Given the description of an element on the screen output the (x, y) to click on. 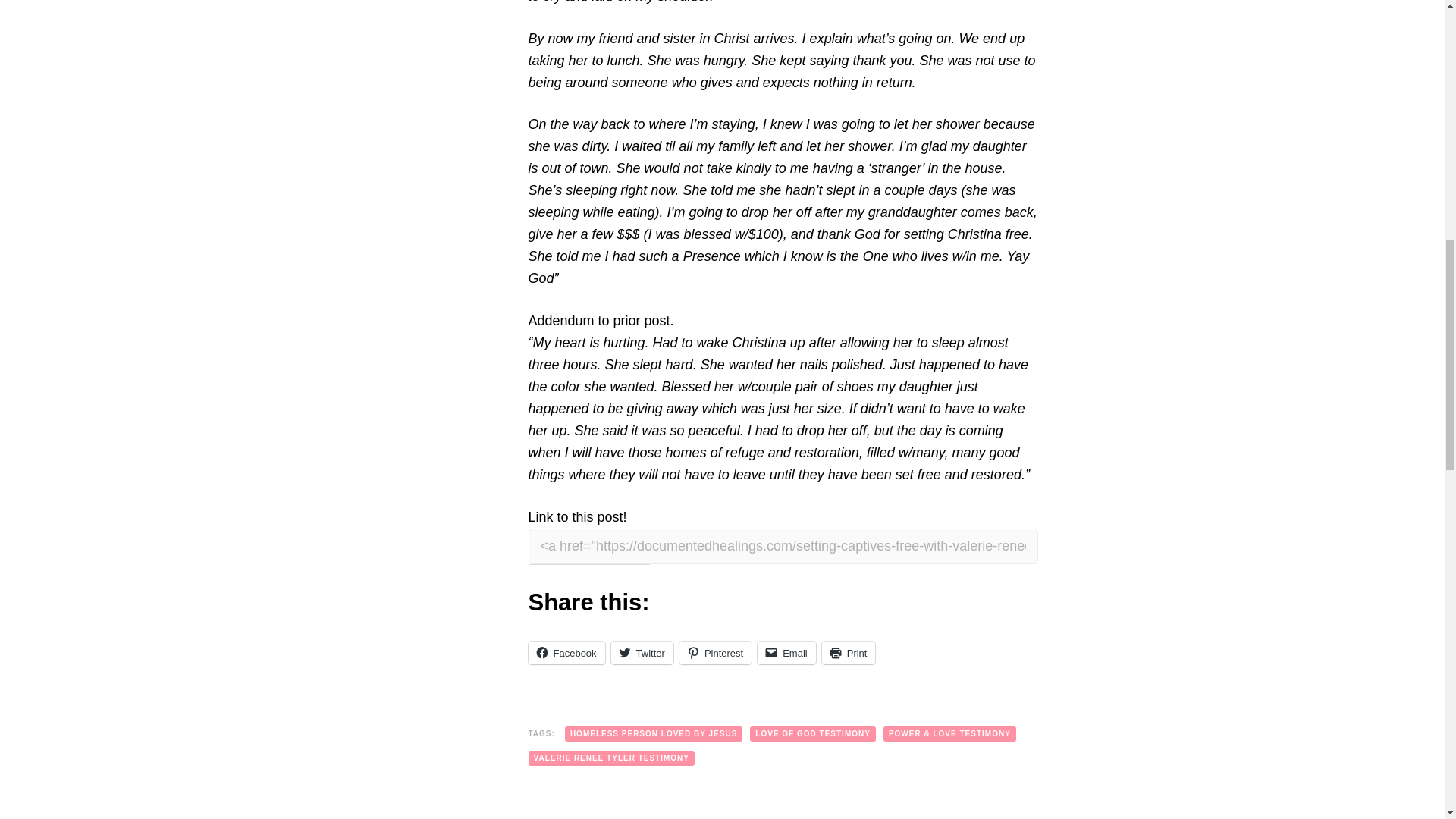
Click to print (849, 652)
Click to share on Twitter (641, 652)
Click to share on Facebook (565, 652)
Click to share on Pinterest (715, 652)
Click to email a link to a friend (786, 652)
